Given the description of an element on the screen output the (x, y) to click on. 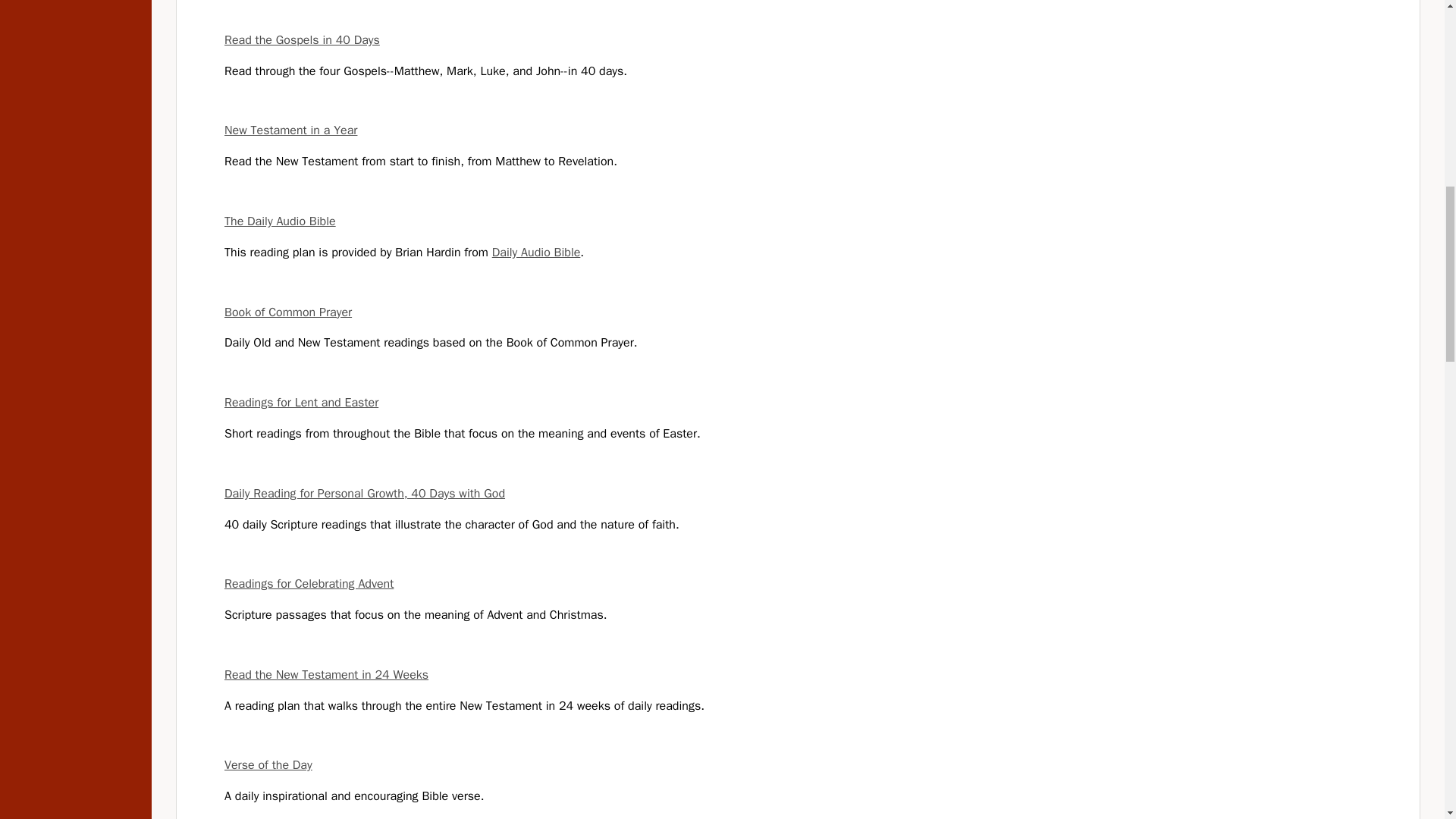
Read the Gospels in 40 Days (302, 39)
